Given the description of an element on the screen output the (x, y) to click on. 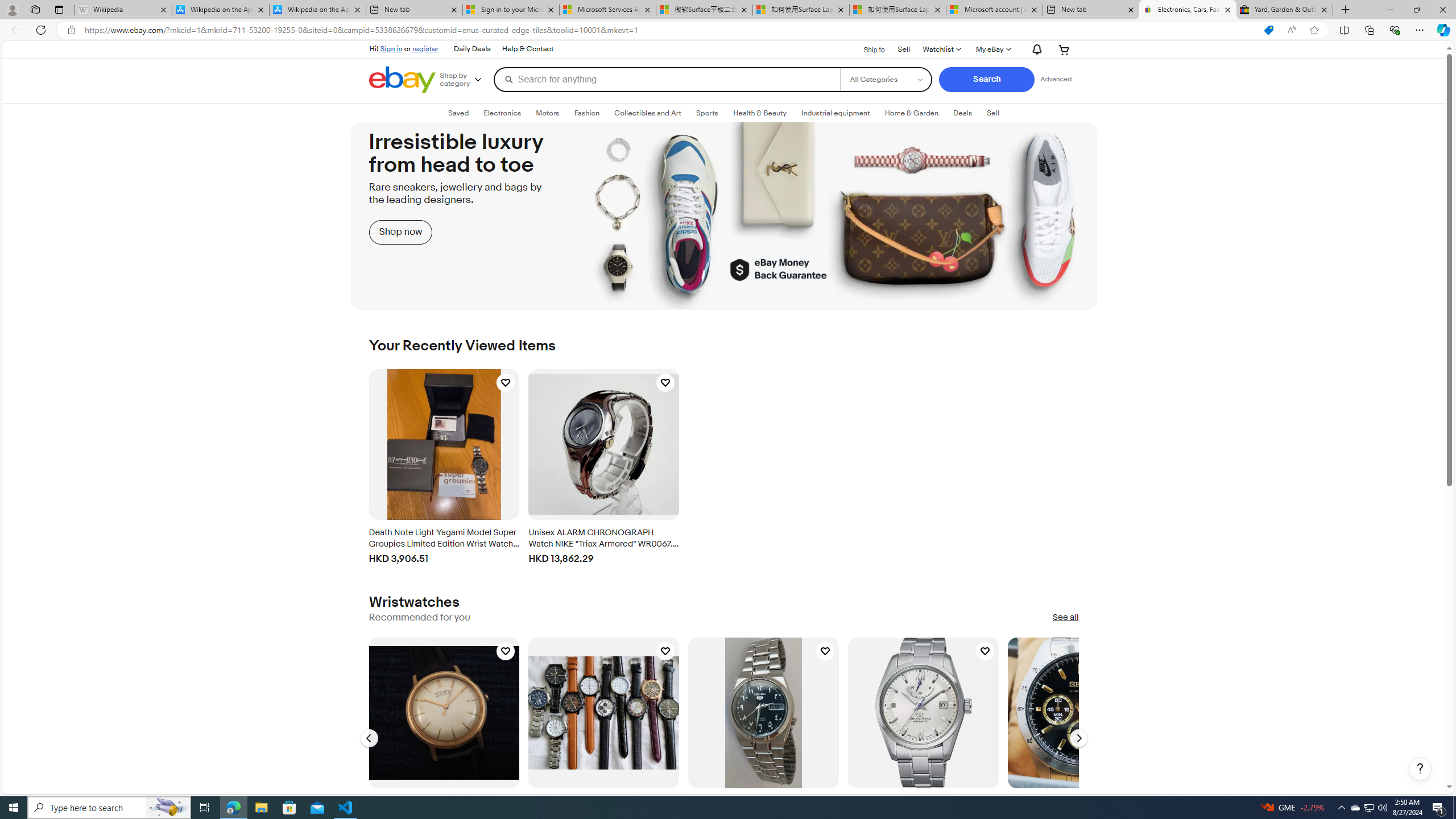
Go to the next slide, Wristwatches - Carousel (1077, 737)
Watchlist (940, 49)
Search for anything (666, 78)
Go to the previous slide, Wristwatches - Carousel (368, 737)
Collectibles and Art (647, 112)
Daily Deals (472, 49)
Sign in (391, 48)
